Given the description of an element on the screen output the (x, y) to click on. 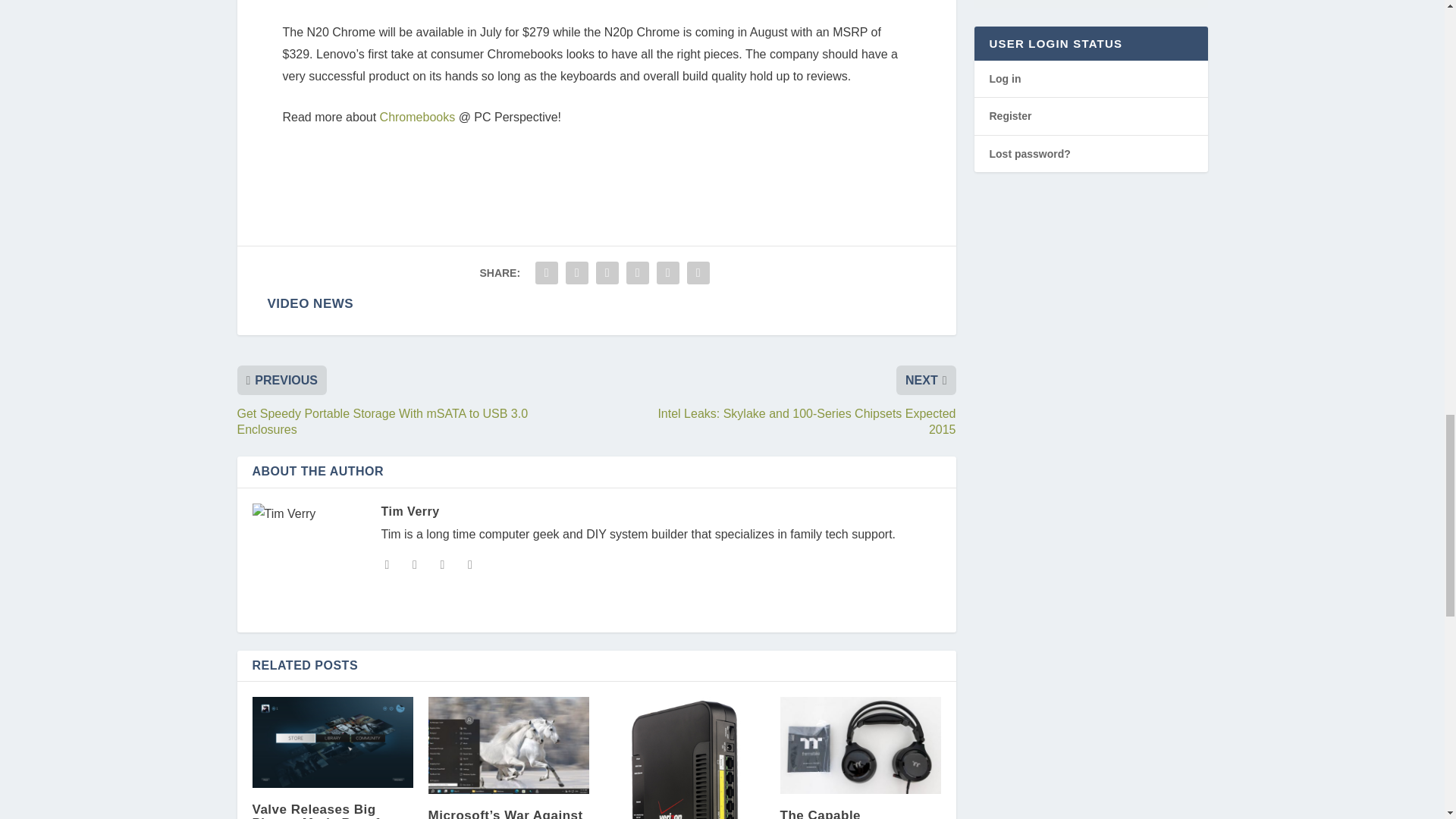
View all posts by Tim Verry (409, 511)
Valve Releases Big Picture Mode Beta for Steam (331, 741)
